Given the description of an element on the screen output the (x, y) to click on. 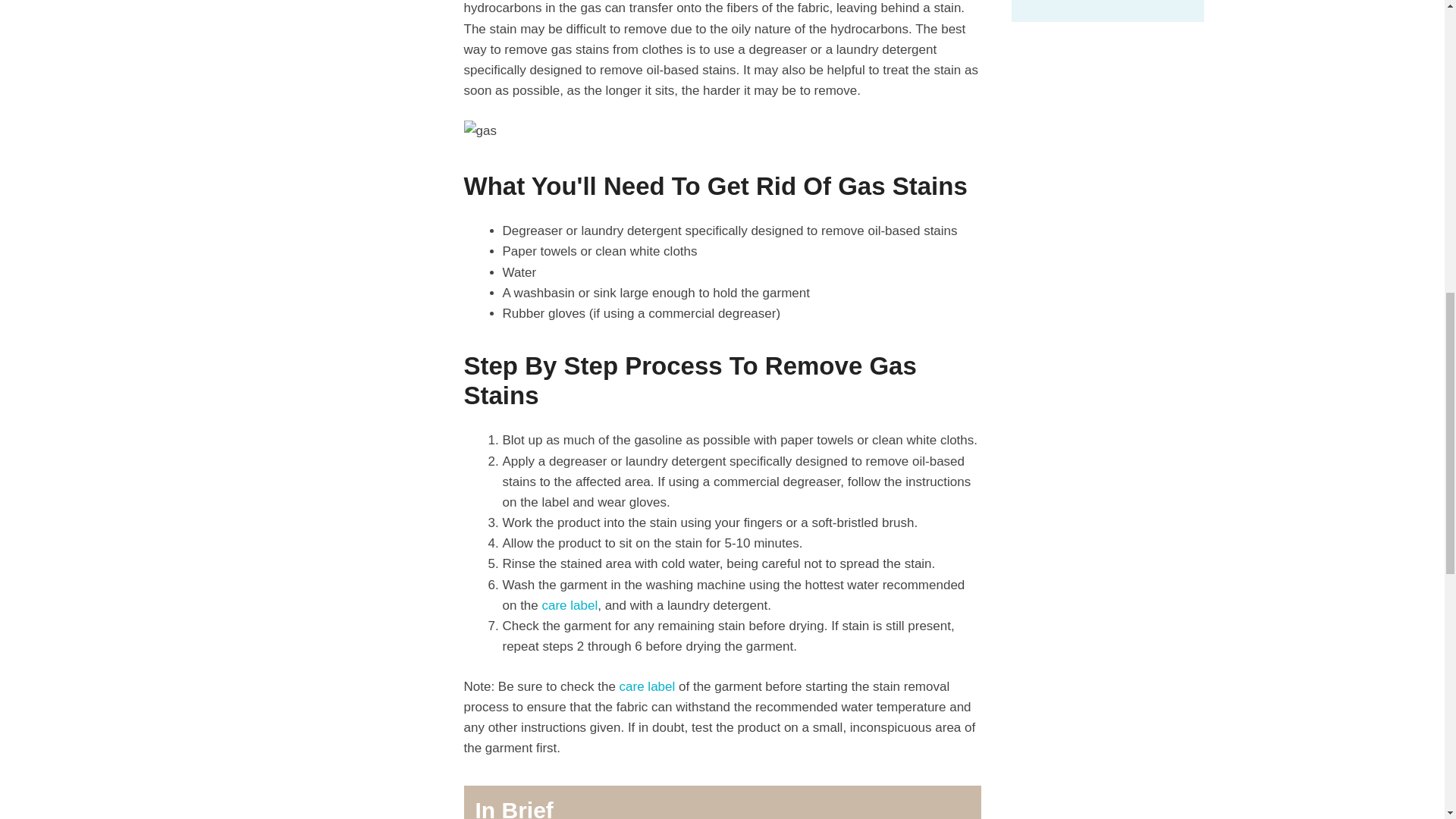
care label (647, 686)
care label (568, 605)
Scroll back to top (1406, 720)
